Given the description of an element on the screen output the (x, y) to click on. 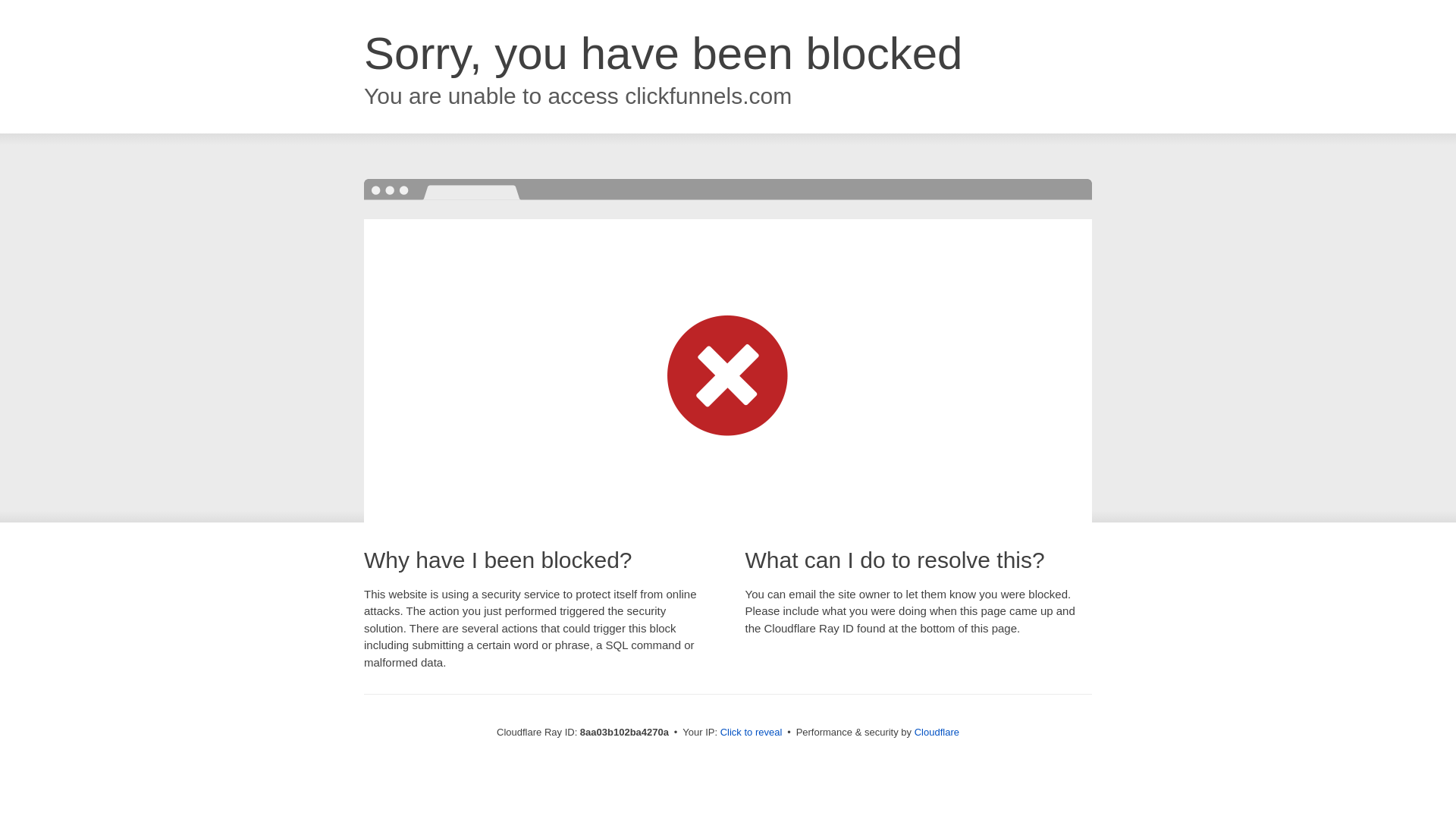
Click to reveal (751, 732)
Cloudflare (936, 731)
